Given the description of an element on the screen output the (x, y) to click on. 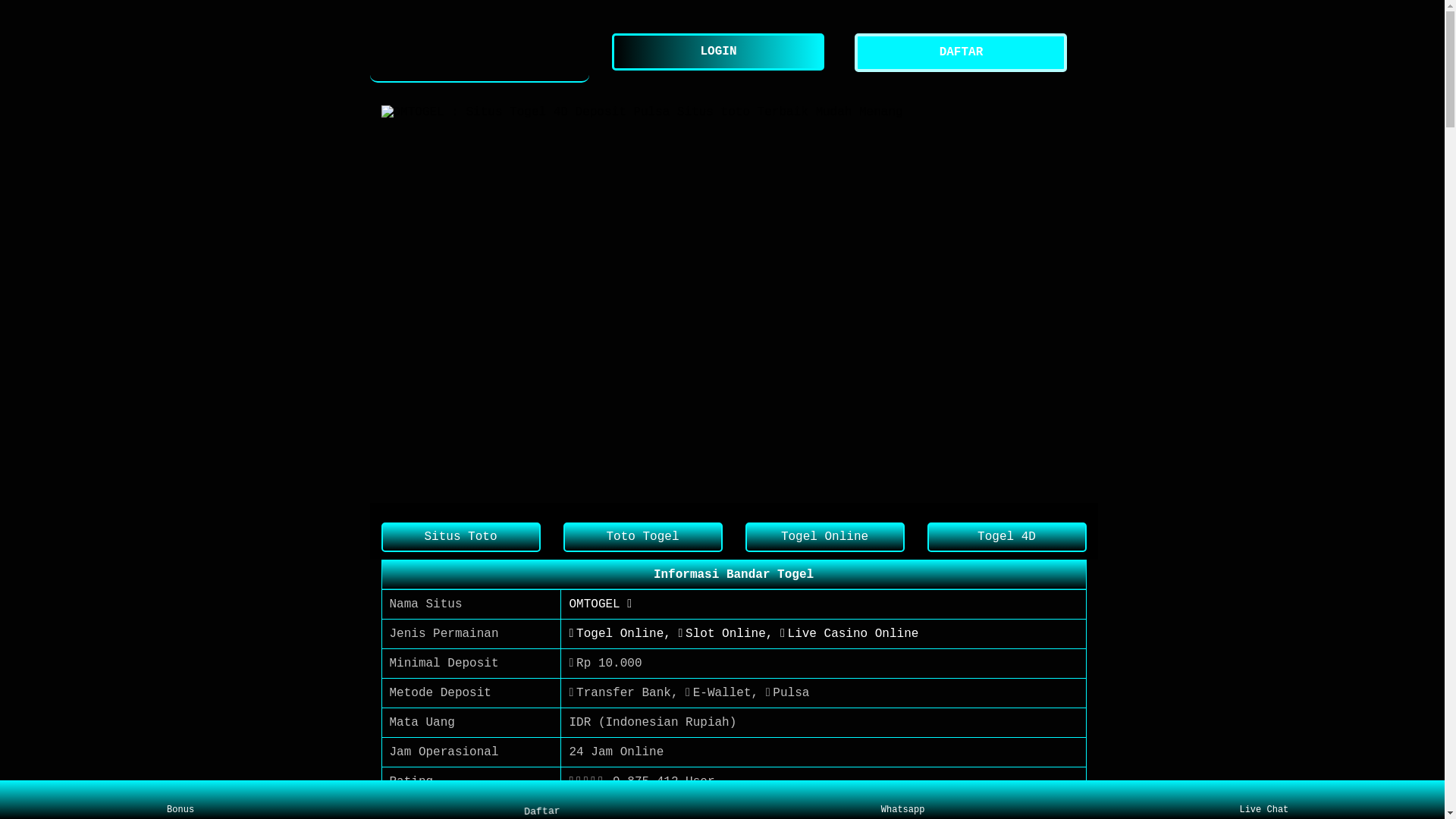
DAFTAR Element type: text (964, 52)
KLIK DISINI Element type: text (608, 811)
Situs Toto Element type: text (459, 537)
OMTOGEL Element type: hover (479, 52)
Togel 4D Element type: text (1005, 537)
Daftar Element type: text (540, 799)
Next item in carousel (1 of 1) Element type: hover (1073, 303)
Previous item in carousel (1 of 1) Element type: hover (392, 303)
Toto Togel Element type: text (641, 537)
Togel Online Element type: text (823, 537)
Whatsapp Element type: text (902, 799)
Bonus Element type: text (180, 799)
LOGIN Element type: text (721, 51)
Live Chat Element type: text (1263, 799)
